Given the description of an element on the screen output the (x, y) to click on. 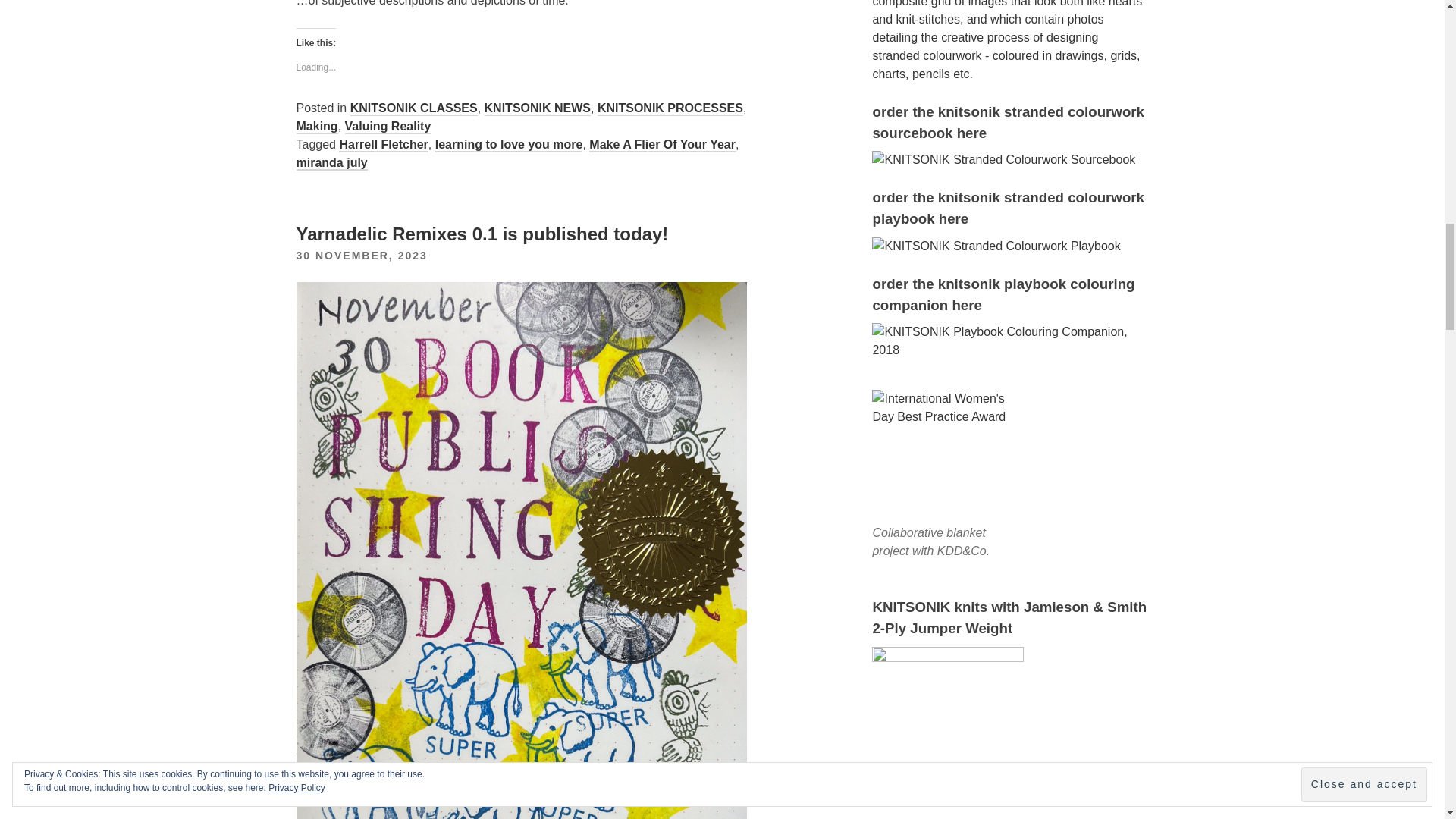
order the knitsonik stranded colourwork sourcebook here (1010, 41)
KNITSONIK Stranded Colourwork Playbook (995, 246)
KNITSONIK Playbook Colouring Companion (1010, 340)
order the knitsonik stranded colourwork sourcebook here (1003, 159)
